Given the description of an element on the screen output the (x, y) to click on. 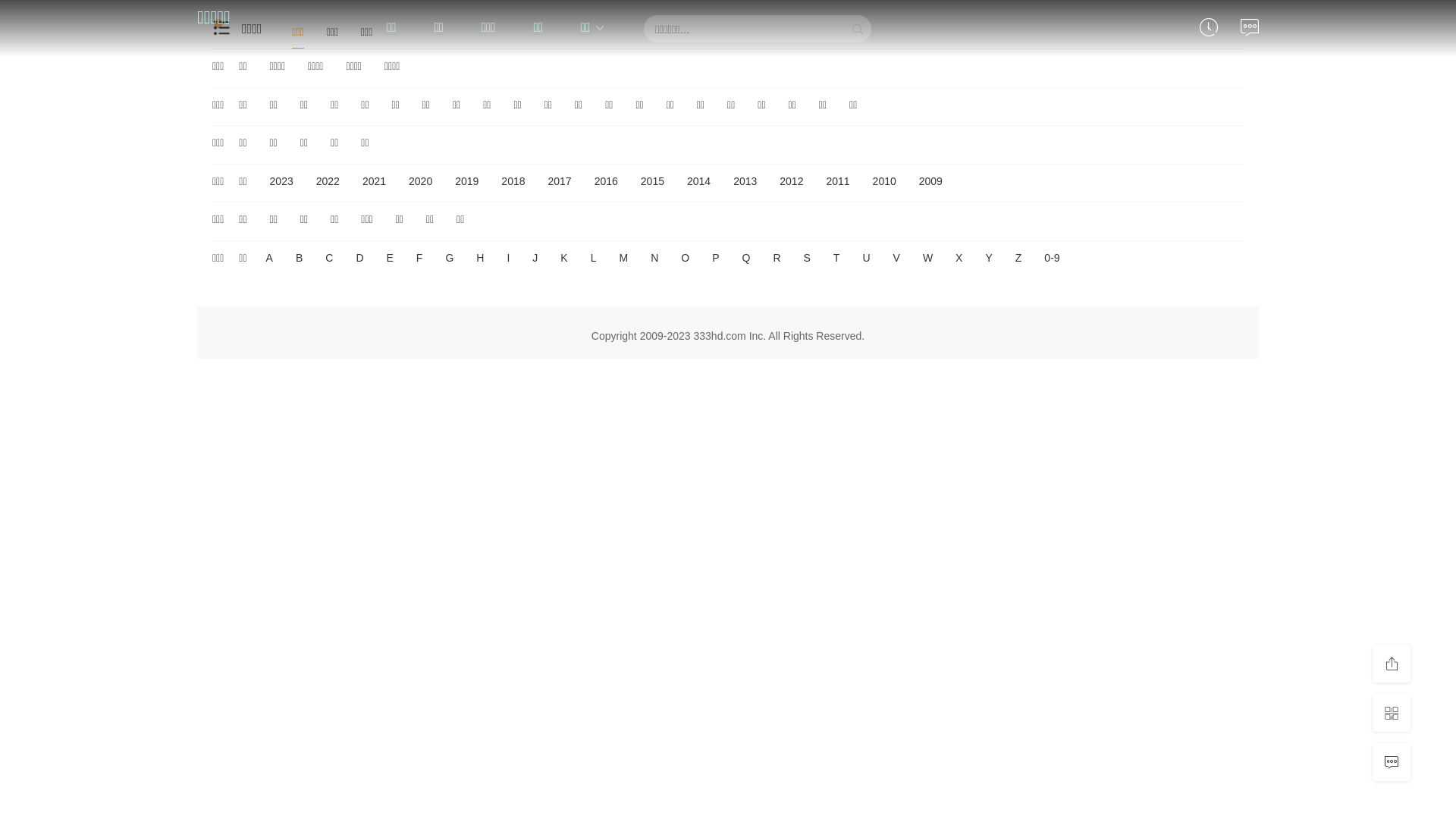
S Element type: text (807, 258)
X Element type: text (958, 258)
Y Element type: text (988, 258)
I Element type: text (507, 258)
2022 Element type: text (327, 181)
M Element type: text (623, 258)
O Element type: text (685, 258)
Q Element type: text (746, 258)
H Element type: text (479, 258)
J Element type: text (534, 258)
2015 Element type: text (652, 181)
G Element type: text (449, 258)
V Element type: text (896, 258)
2019 Element type: text (466, 181)
N Element type: text (654, 258)
2020 Element type: text (420, 181)
C Element type: text (328, 258)
U Element type: text (865, 258)
2011 Element type: text (837, 181)
2014 Element type: text (698, 181)
E Element type: text (389, 258)
T Element type: text (836, 258)
2018 Element type: text (512, 181)
2016 Element type: text (605, 181)
A Element type: text (269, 258)
2021 Element type: text (373, 181)
2009 Element type: text (930, 181)
W Element type: text (927, 258)
P Element type: text (715, 258)
F Element type: text (419, 258)
2017 Element type: text (559, 181)
B Element type: text (298, 258)
K Element type: text (563, 258)
0-9 Element type: text (1051, 258)
D Element type: text (359, 258)
2010 Element type: text (884, 181)
2013 Element type: text (744, 181)
2023 Element type: text (281, 181)
2012 Element type: text (790, 181)
R Element type: text (776, 258)
L Element type: text (593, 258)
Z Element type: text (1018, 258)
